Given the description of an element on the screen output the (x, y) to click on. 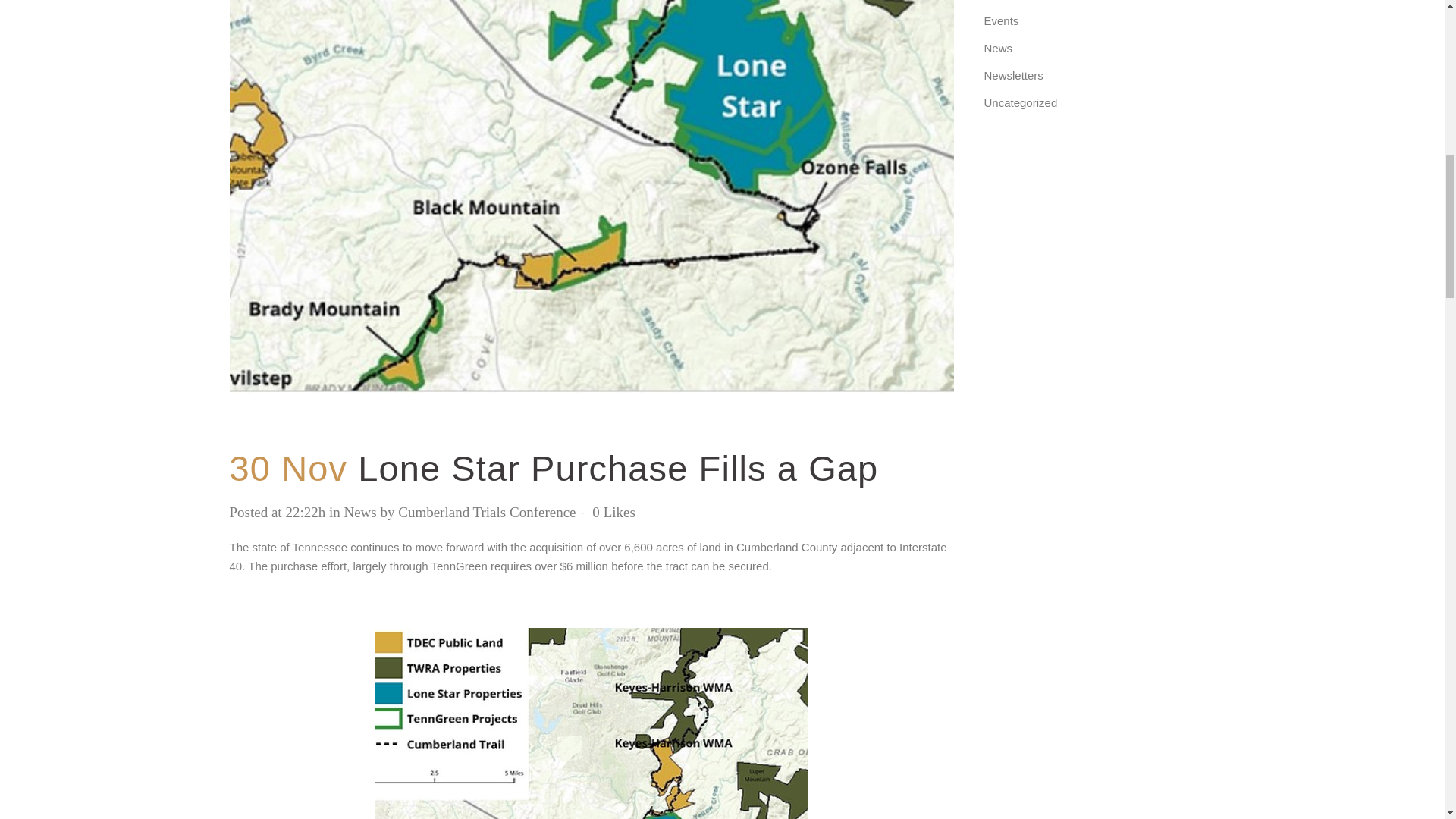
Uncategorized (1021, 102)
Like this (613, 511)
Newsletters (1013, 74)
Cumberland Trials Conference (486, 512)
News (359, 512)
News (998, 47)
Events (1001, 20)
0 Likes (613, 511)
